Given the description of an element on the screen output the (x, y) to click on. 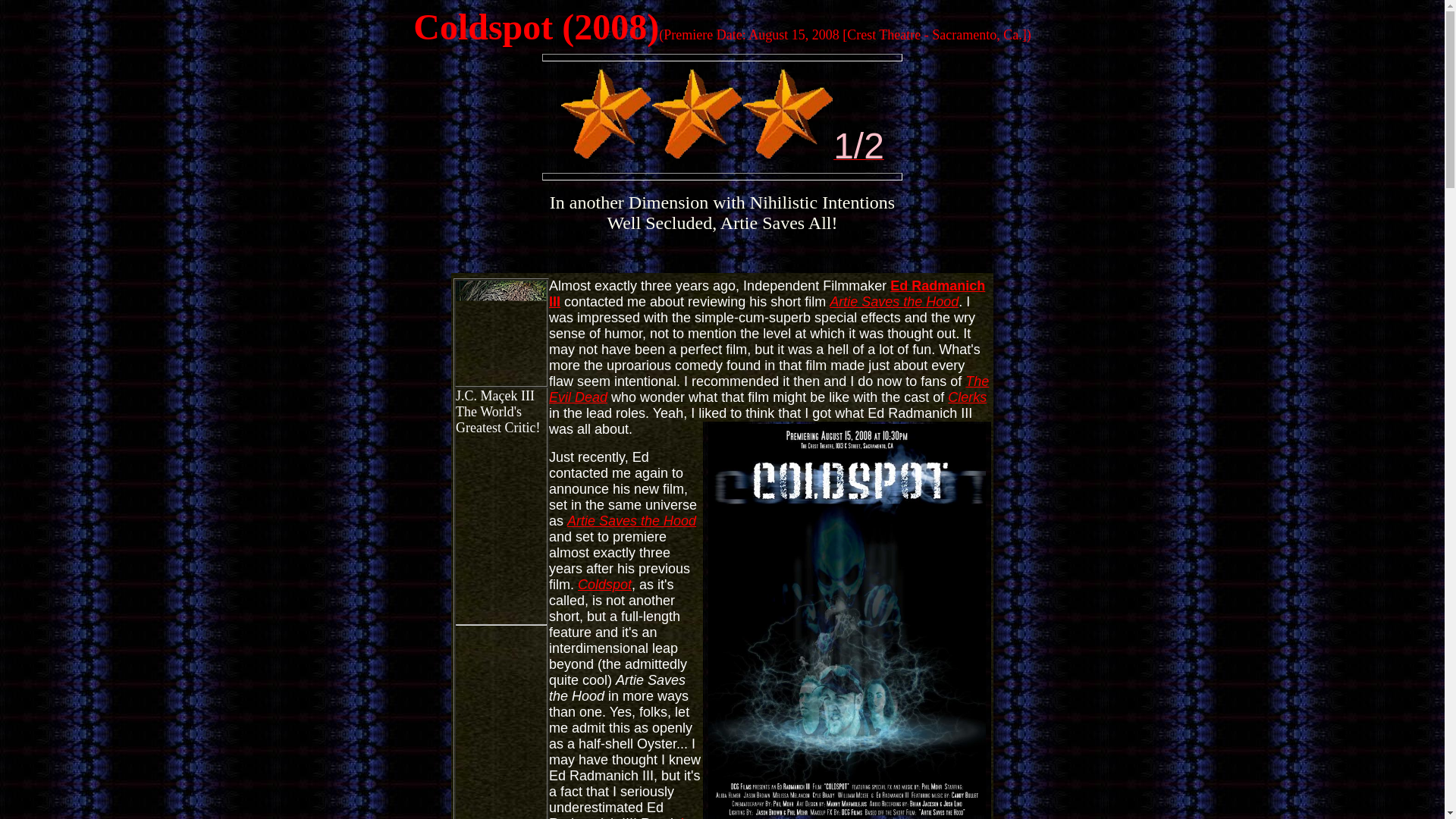
Clerks (967, 396)
Artie Saves the Hood (893, 301)
Coldspot (483, 26)
Ed Radmanich III (766, 293)
Artie Saves the Hood (631, 520)
The Evil Dead (768, 388)
Coldspot (604, 584)
Trip THIS Rift, FUCKERS!!! (787, 112)
the review for Artie Saves the Hood (621, 817)
Trip THIS Rift, FUCKERS!!! (696, 112)
